Given the description of an element on the screen output the (x, y) to click on. 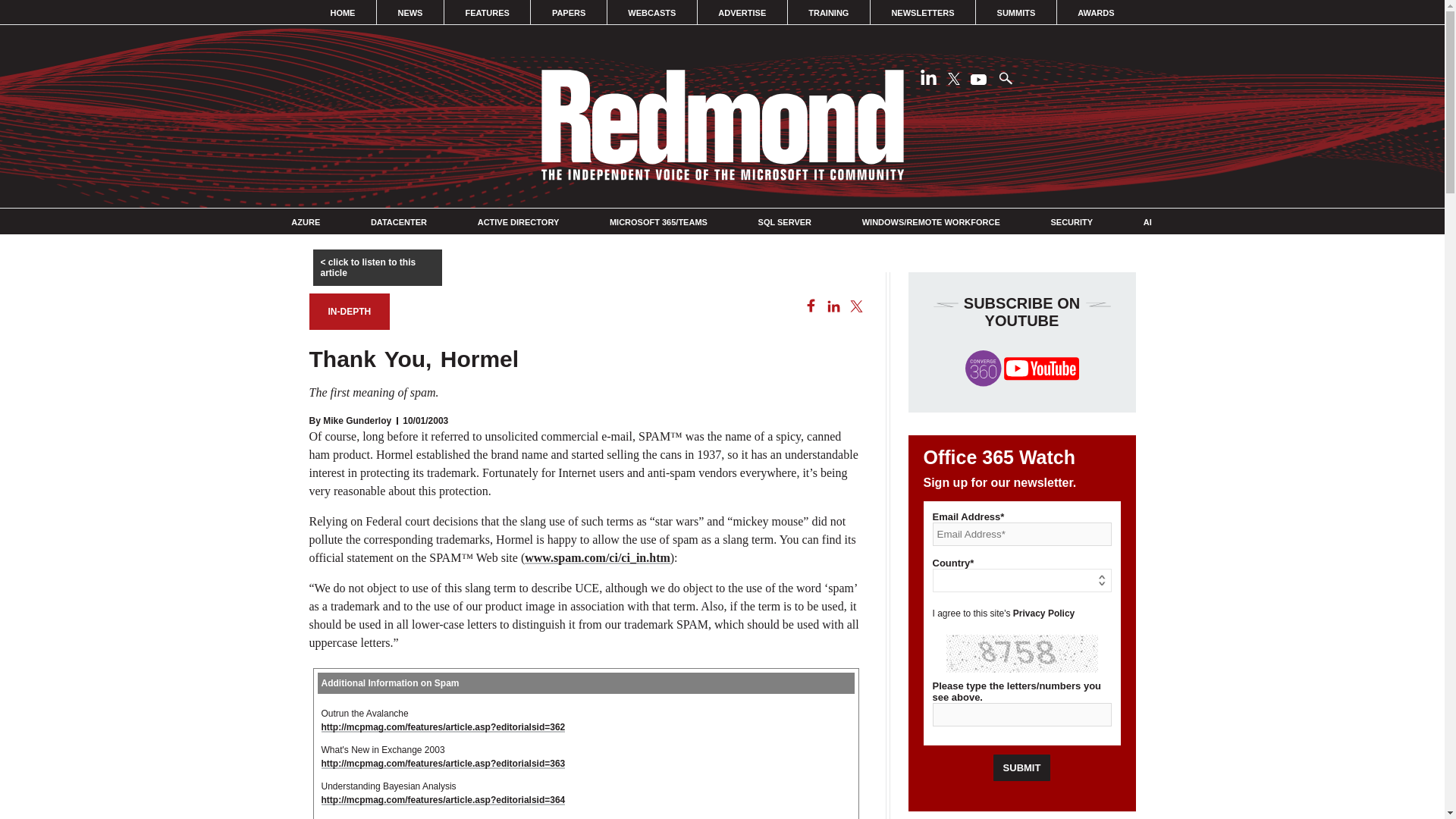
SQL SERVER (785, 221)
SECURITY (1071, 221)
Mike Gunderloy (357, 420)
ADVERTISE (742, 12)
HOME (342, 12)
FEATURES (487, 12)
NEWS (409, 12)
PAPERS (568, 12)
AZURE (305, 221)
IN-DEPTH (349, 311)
